Given the description of an element on the screen output the (x, y) to click on. 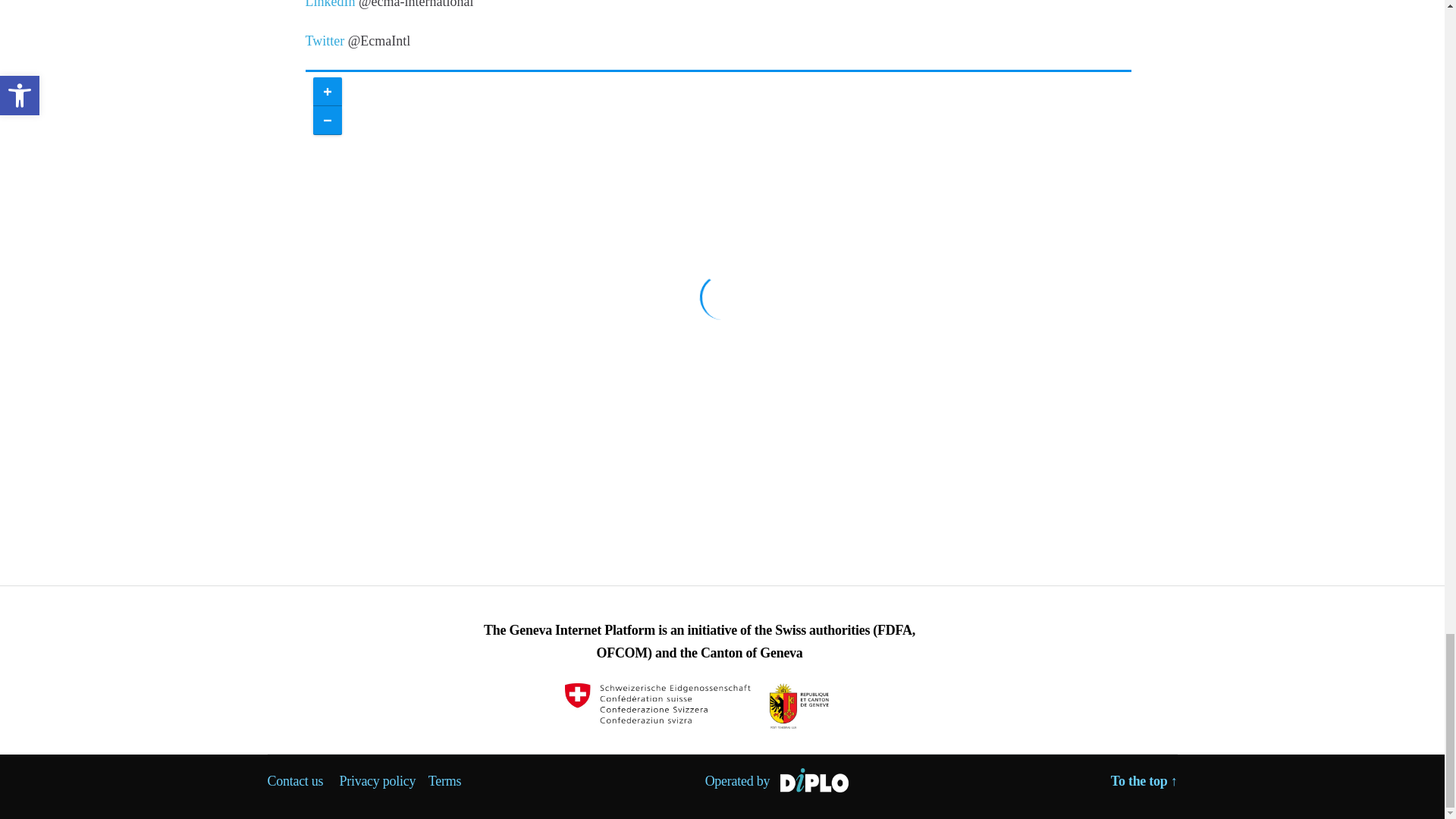
Zoom in (326, 91)
Zoom out (326, 120)
